Given the description of an element on the screen output the (x, y) to click on. 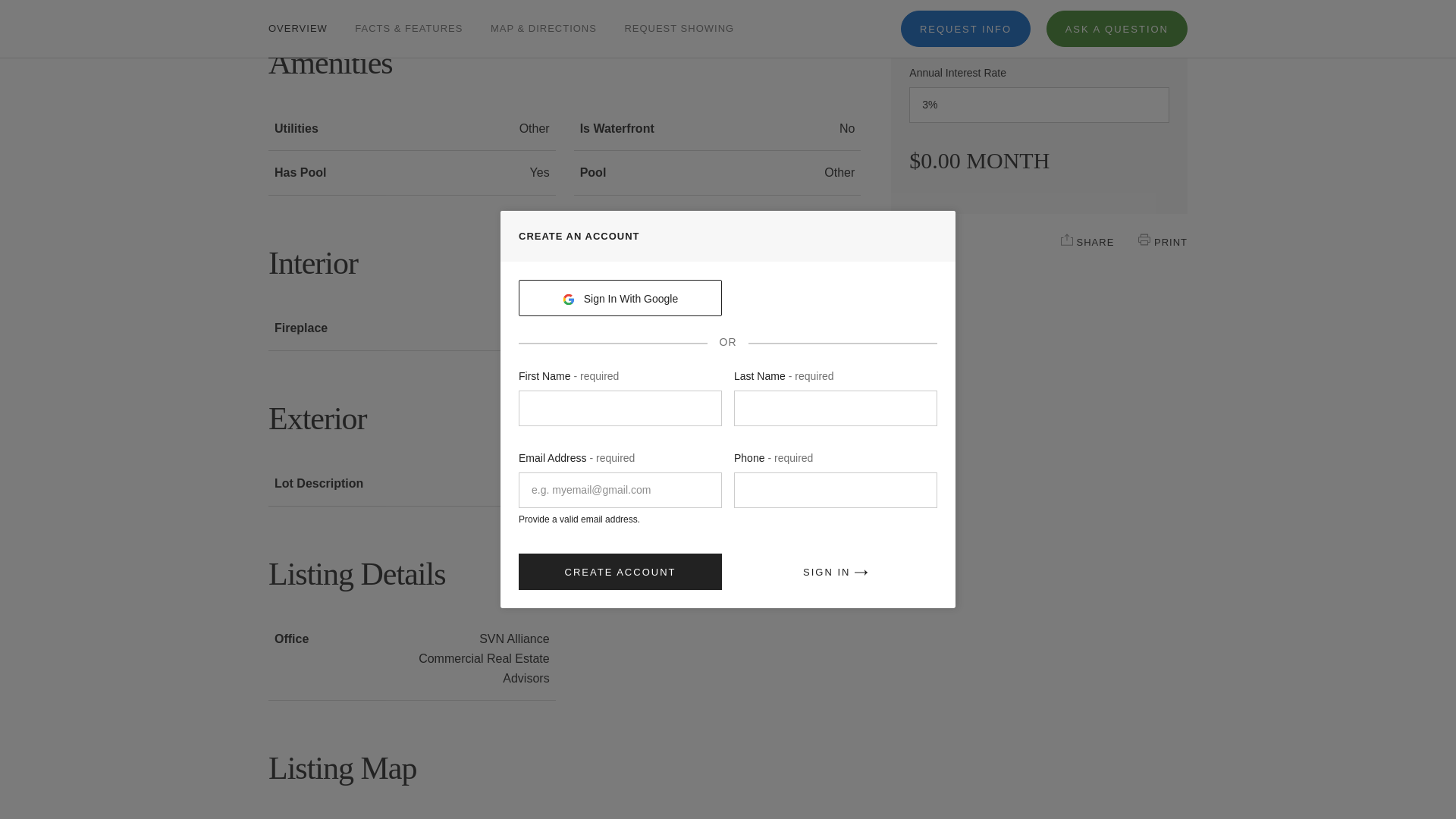
PRINT (1144, 239)
SHARE (1067, 239)
